Given the description of an element on the screen output the (x, y) to click on. 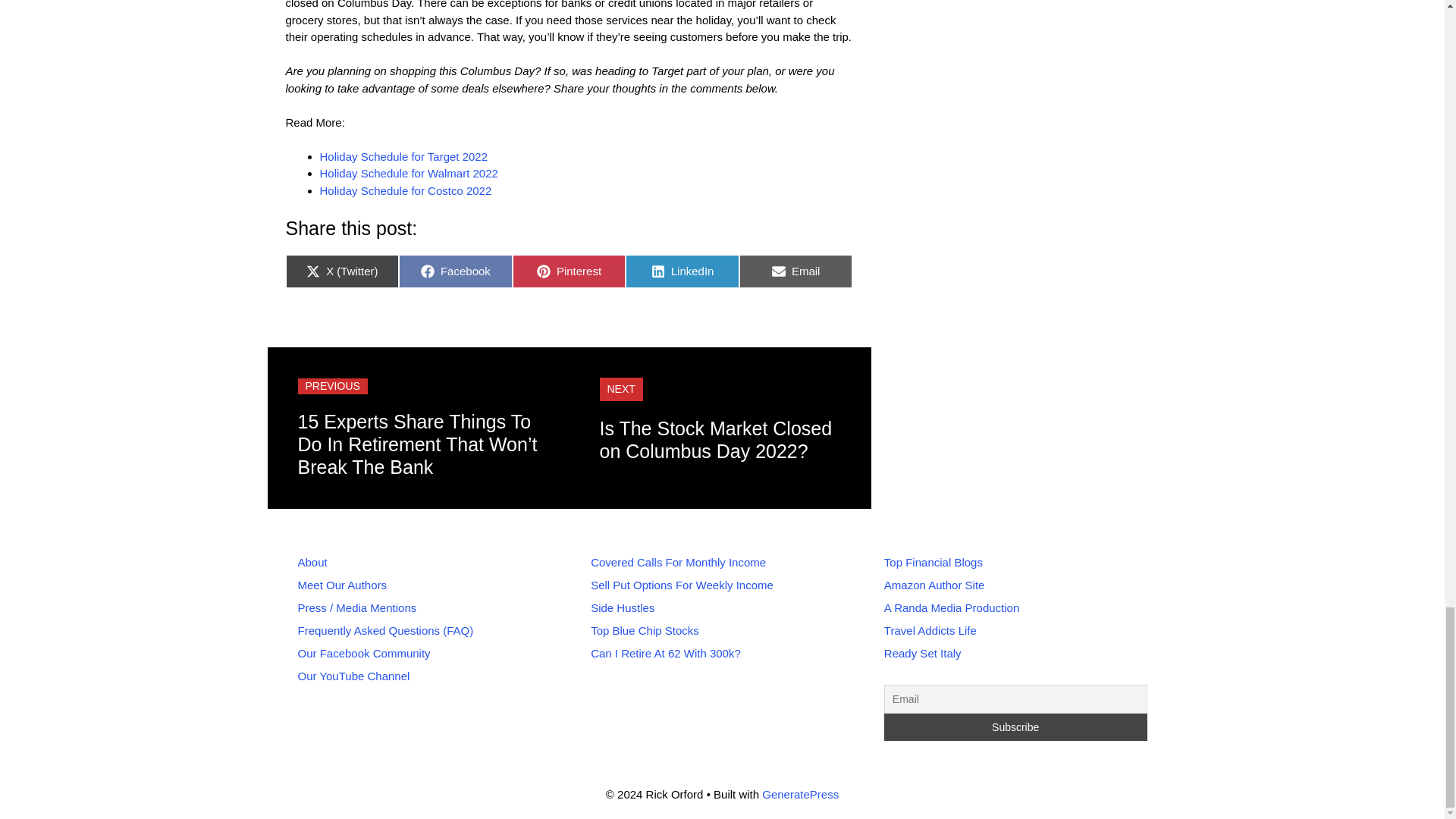
Subscribe (1015, 727)
Holiday Schedule for Walmart 2022 (408, 173)
Holiday Schedule for Costco 2022 (406, 190)
Holiday Schedule for Target 2022 (403, 155)
